Given the description of an element on the screen output the (x, y) to click on. 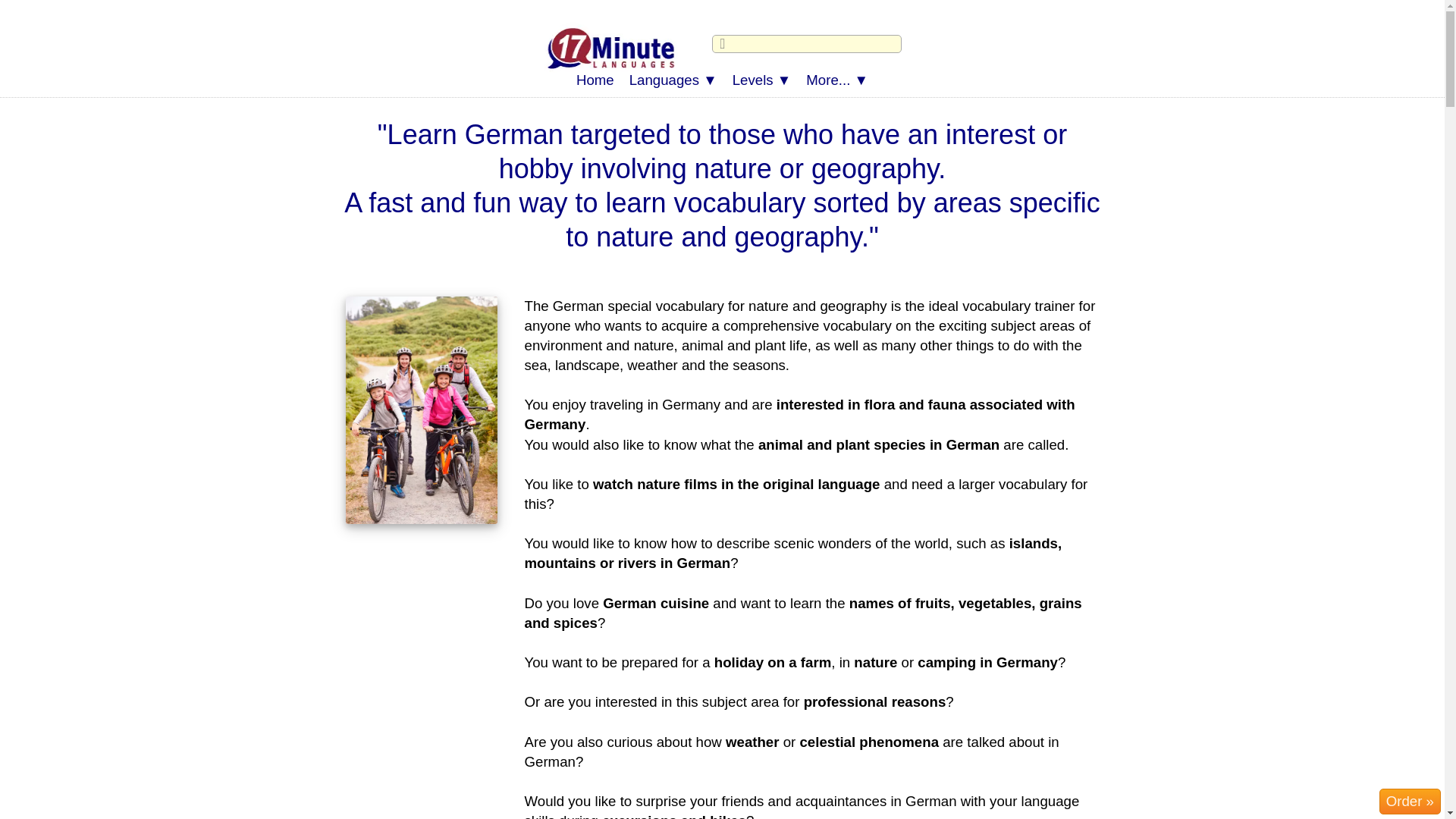
Languages (673, 80)
Home (595, 80)
